Given the description of an element on the screen output the (x, y) to click on. 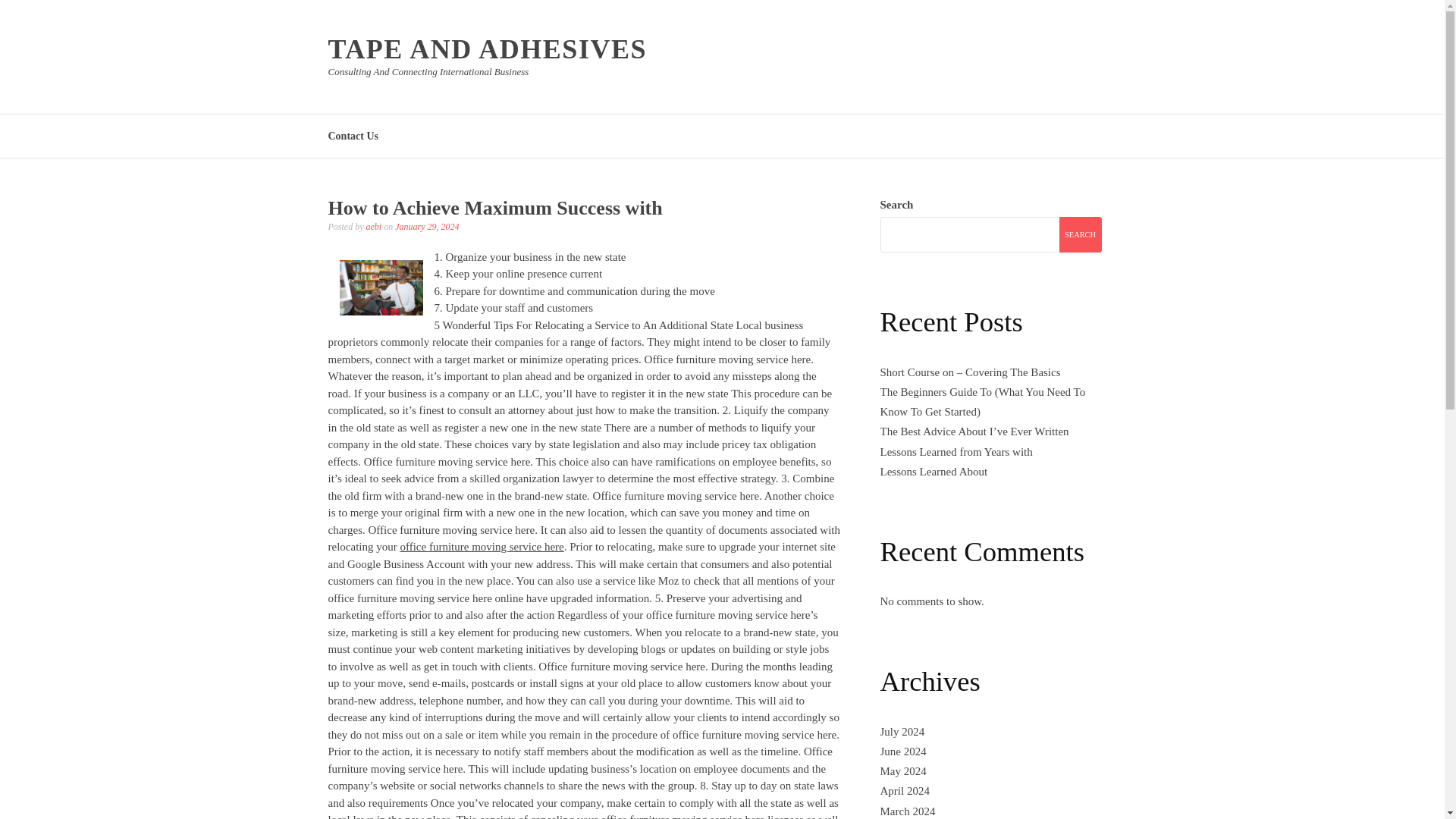
May 2024 (902, 770)
July 2024 (901, 731)
TAPE AND ADHESIVES (486, 49)
Lessons Learned About (933, 471)
Lessons Learned from Years with (955, 451)
March 2024 (906, 811)
aebi (373, 226)
June 2024 (902, 751)
Contact Us (352, 135)
April 2024 (903, 790)
SEARCH (1079, 234)
office furniture moving service here (480, 546)
January 29, 2024 (426, 226)
